Given the description of an element on the screen output the (x, y) to click on. 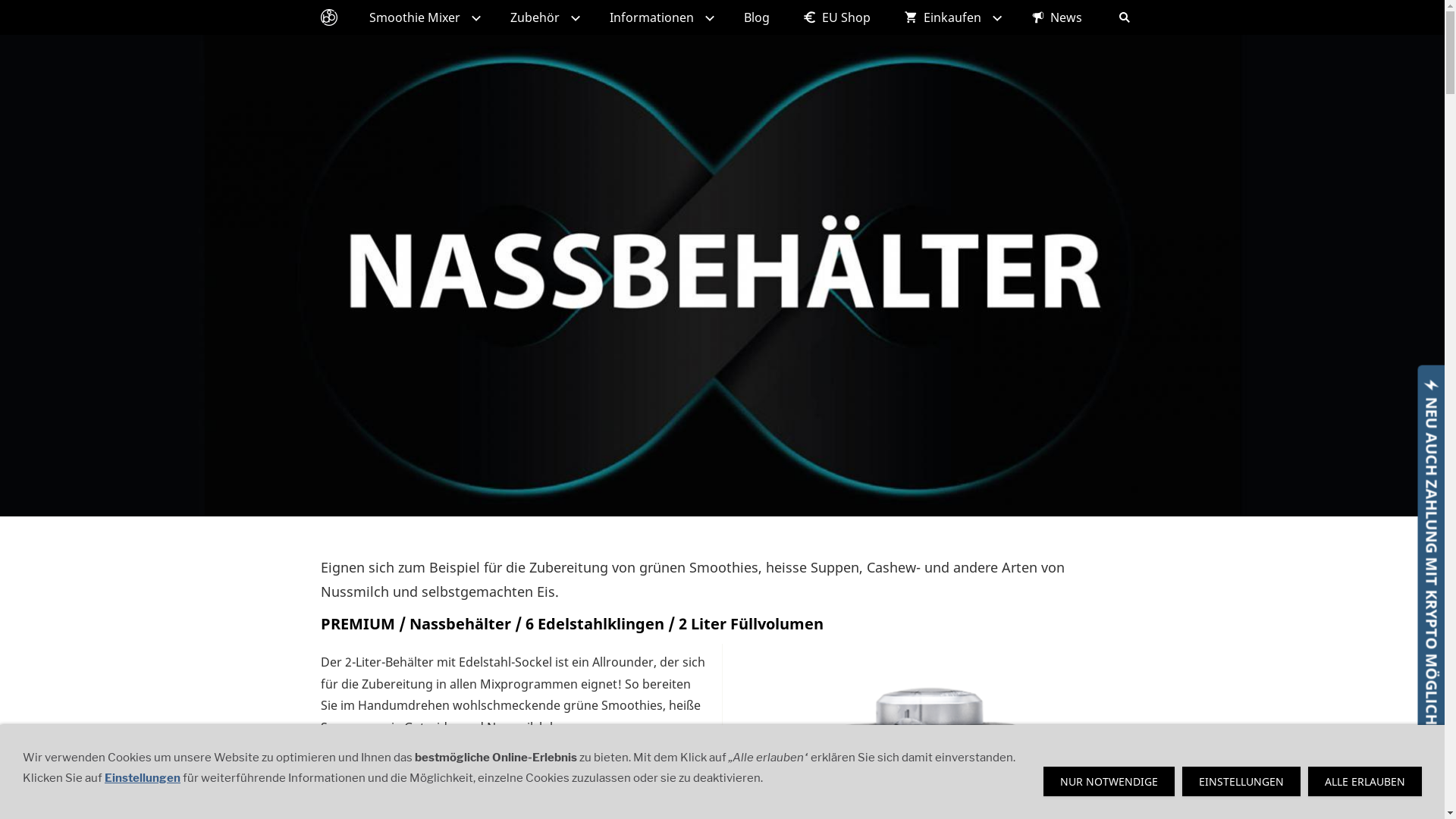
EU Shop Element type: text (836, 17)
Einstellungen Element type: text (142, 777)
Blog Element type: text (755, 17)
News Element type: text (1056, 17)
Einkaufen Element type: text (950, 17)
ALLE ERLAUBEN Element type: text (1364, 781)
NUR NOTWENDIGE Element type: text (1108, 781)
EINSTELLUNGEN Element type: text (1241, 781)
Smoothie Mixer Element type: text (421, 17)
Informationen Element type: text (660, 17)
